Given the description of an element on the screen output the (x, y) to click on. 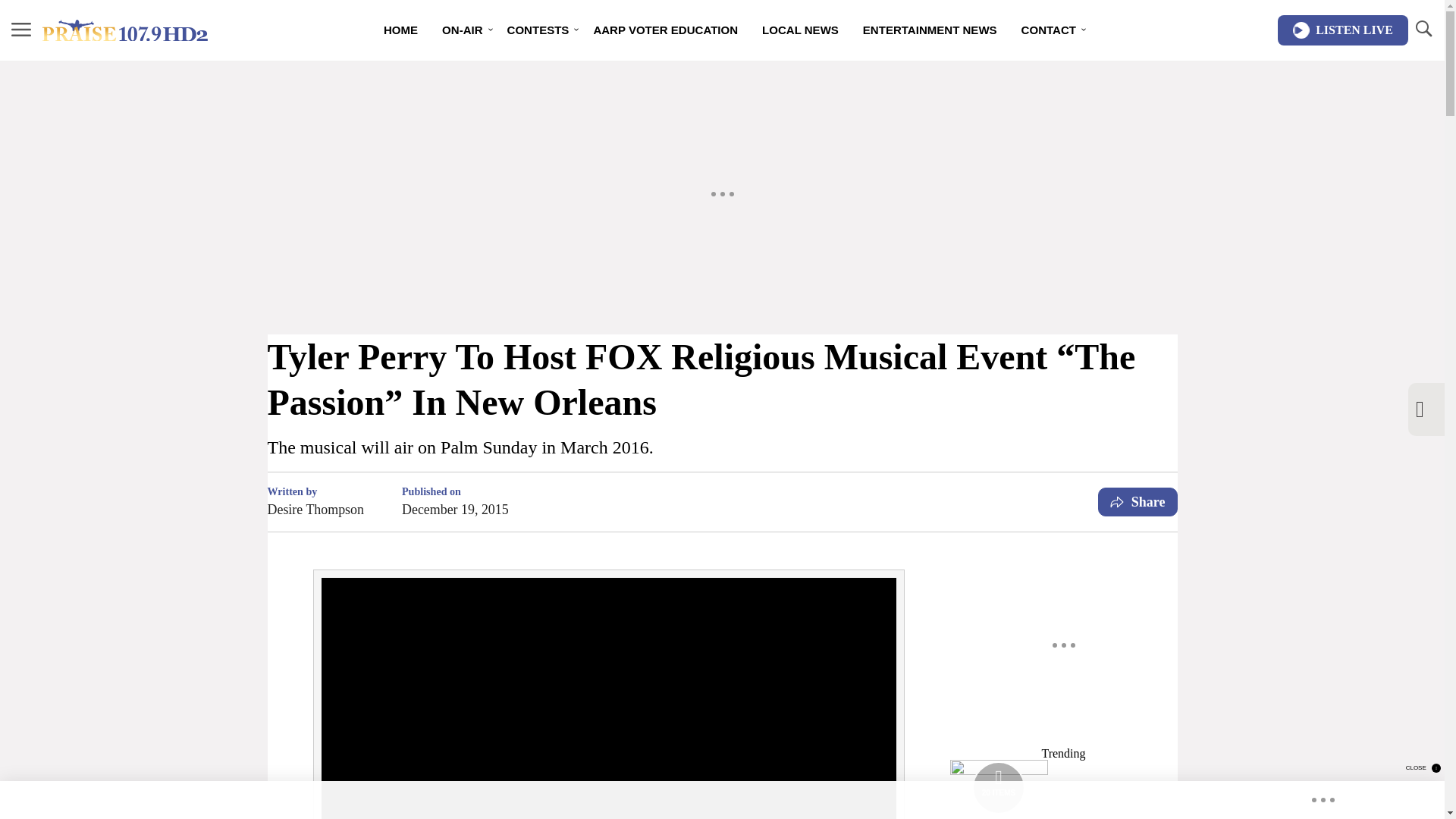
ENTERTAINMENT NEWS (929, 30)
CONTACT (1048, 30)
Media Playlist (998, 787)
TOGGLE SEARCH (1422, 30)
LOCAL NEWS (799, 30)
CONTESTS (537, 30)
MENU (20, 30)
AARP VOTER EDUCATION (664, 30)
TOGGLE SEARCH (1422, 28)
Share (1137, 501)
